Given the description of an element on the screen output the (x, y) to click on. 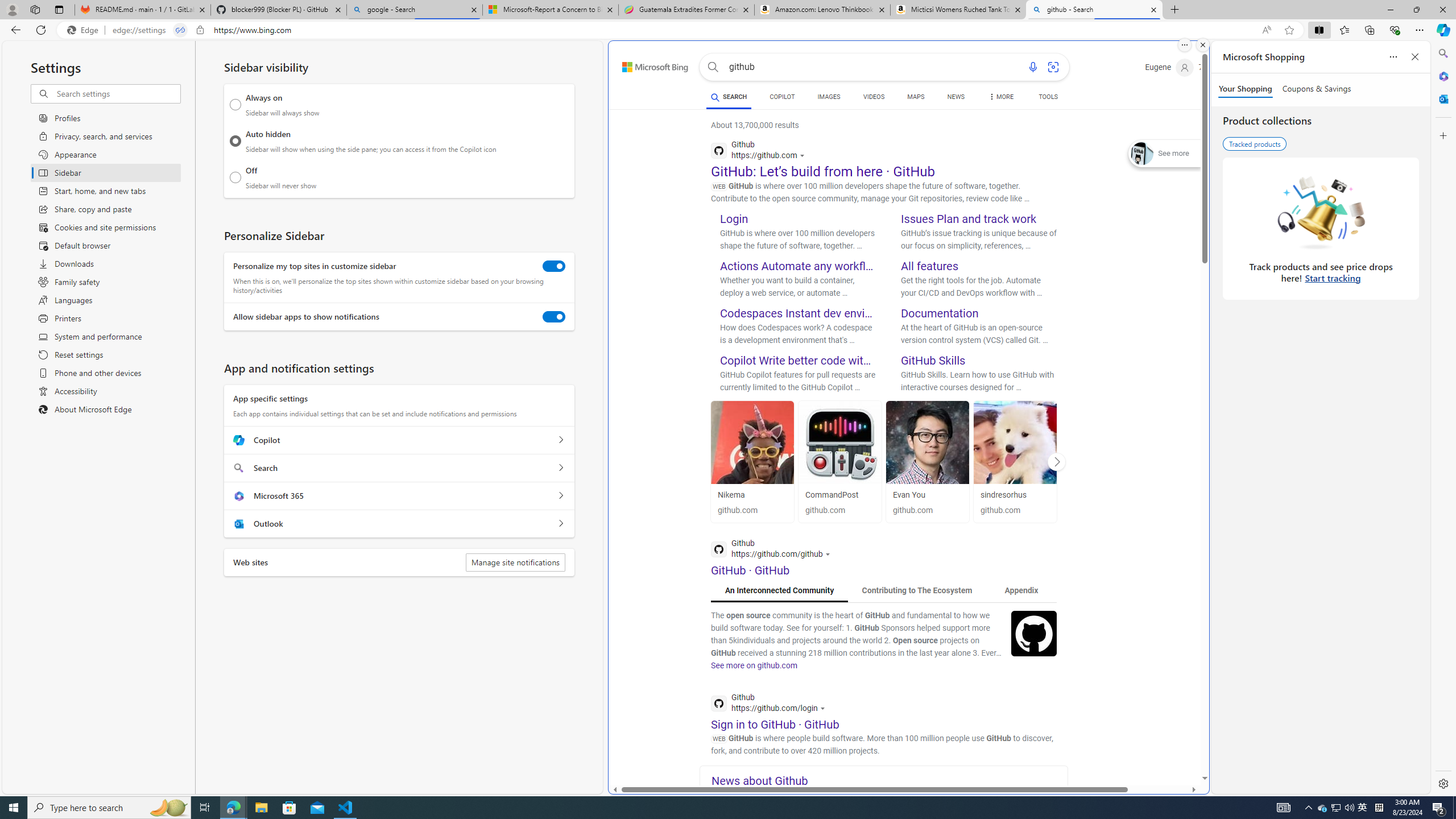
Expand (1142, 153)
TOOLS (1048, 98)
Copilot (560, 439)
Manage site notifications (514, 562)
NEWS (955, 98)
Search using an image (1052, 66)
Issues Plan and track work (968, 218)
CommandPost (838, 442)
